Given the description of an element on the screen output the (x, y) to click on. 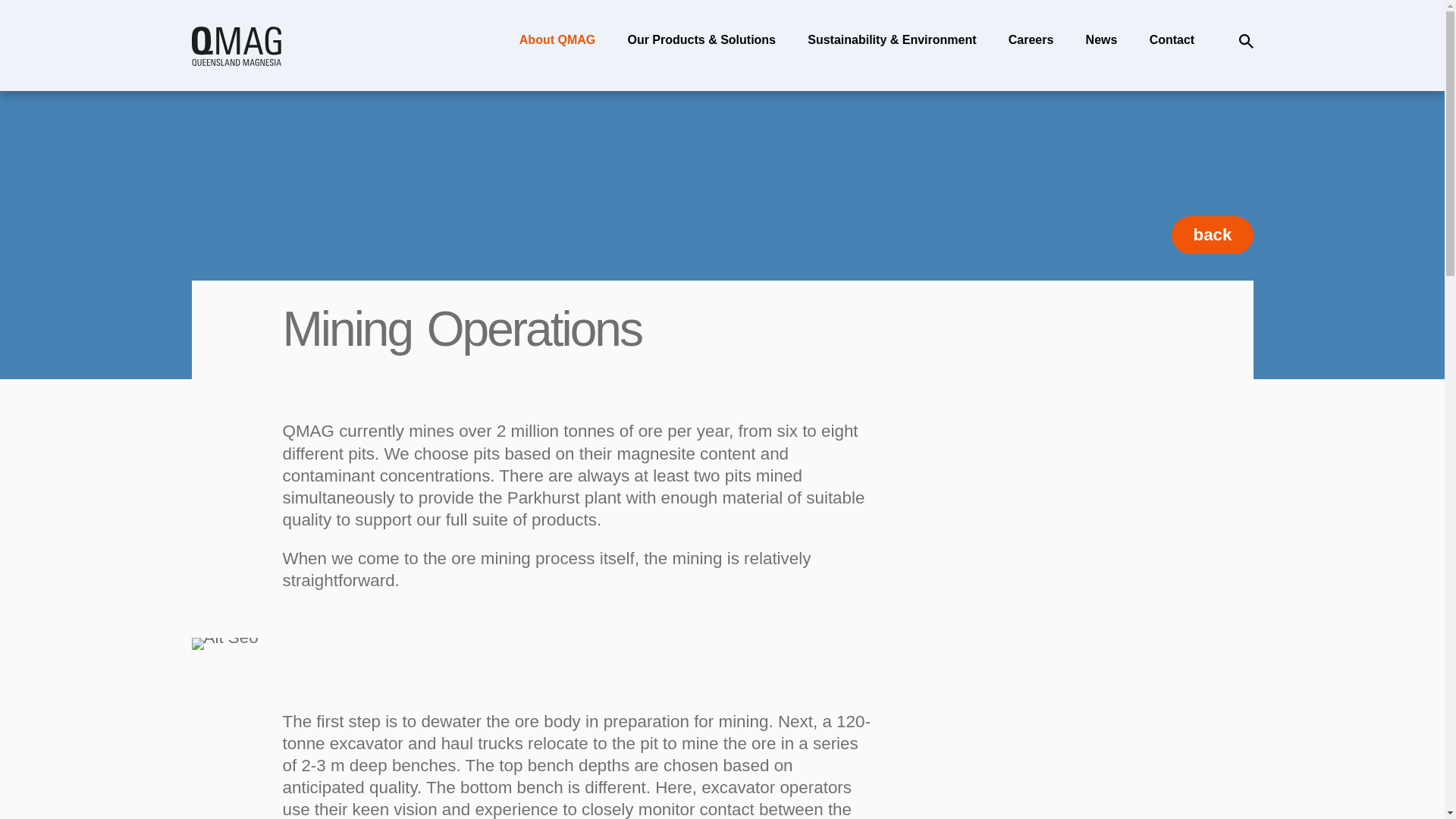
About QMAG (557, 40)
Contact (1172, 40)
Careers (1031, 40)
Careers (1031, 40)
About QMAG (557, 40)
News (1102, 40)
Contact (1172, 40)
Sustainable mining to protect the environment - QMAG (891, 40)
News (1102, 40)
